Given the description of an element on the screen output the (x, y) to click on. 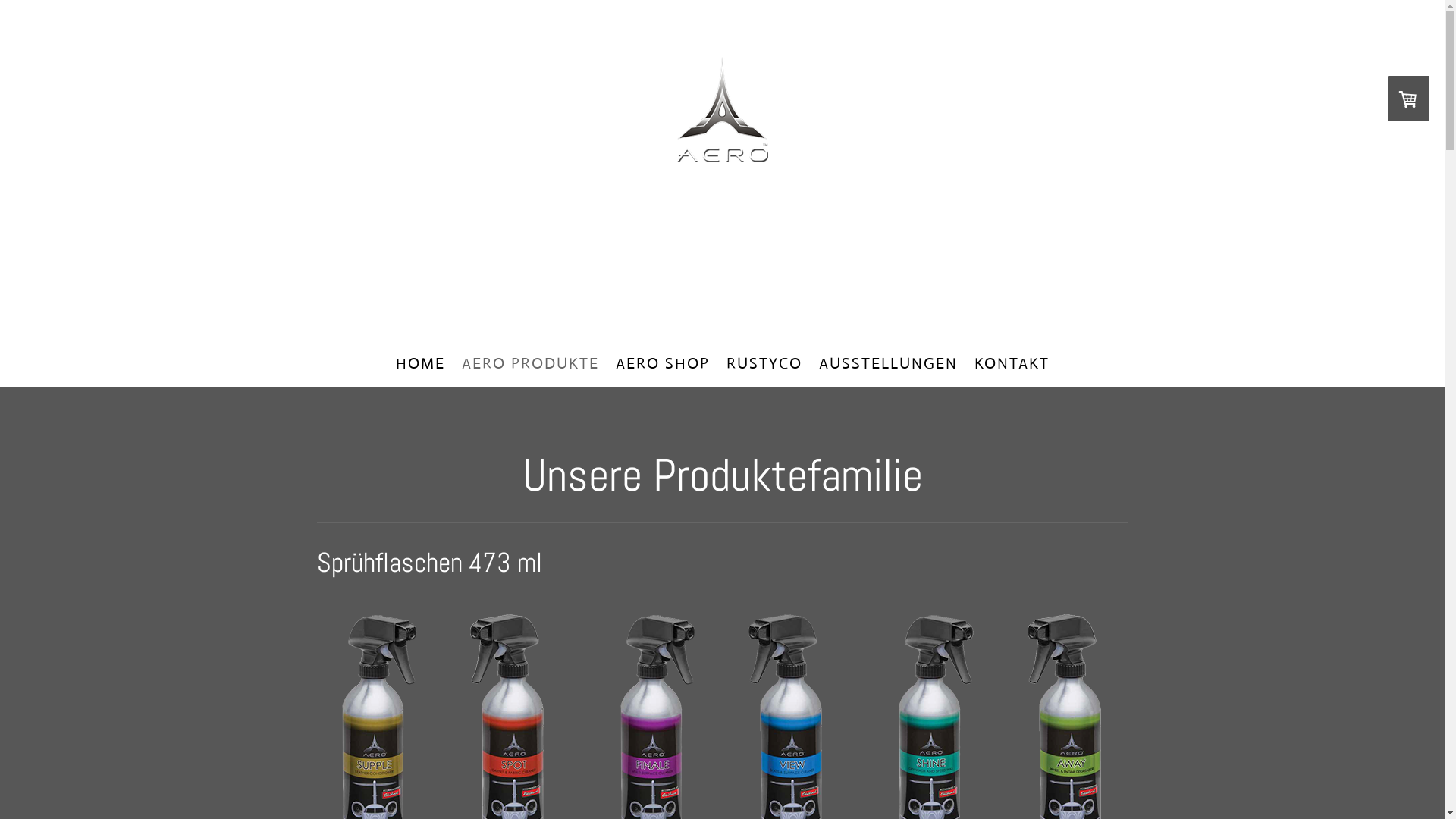
AERO PRODUKTE Element type: text (530, 363)
KONTAKT Element type: text (1011, 363)
HOME Element type: text (419, 363)
AUSSTELLUNGEN Element type: text (887, 363)
RUSTYCO Element type: text (763, 363)
AERO SHOP Element type: text (661, 363)
